Given the description of an element on the screen output the (x, y) to click on. 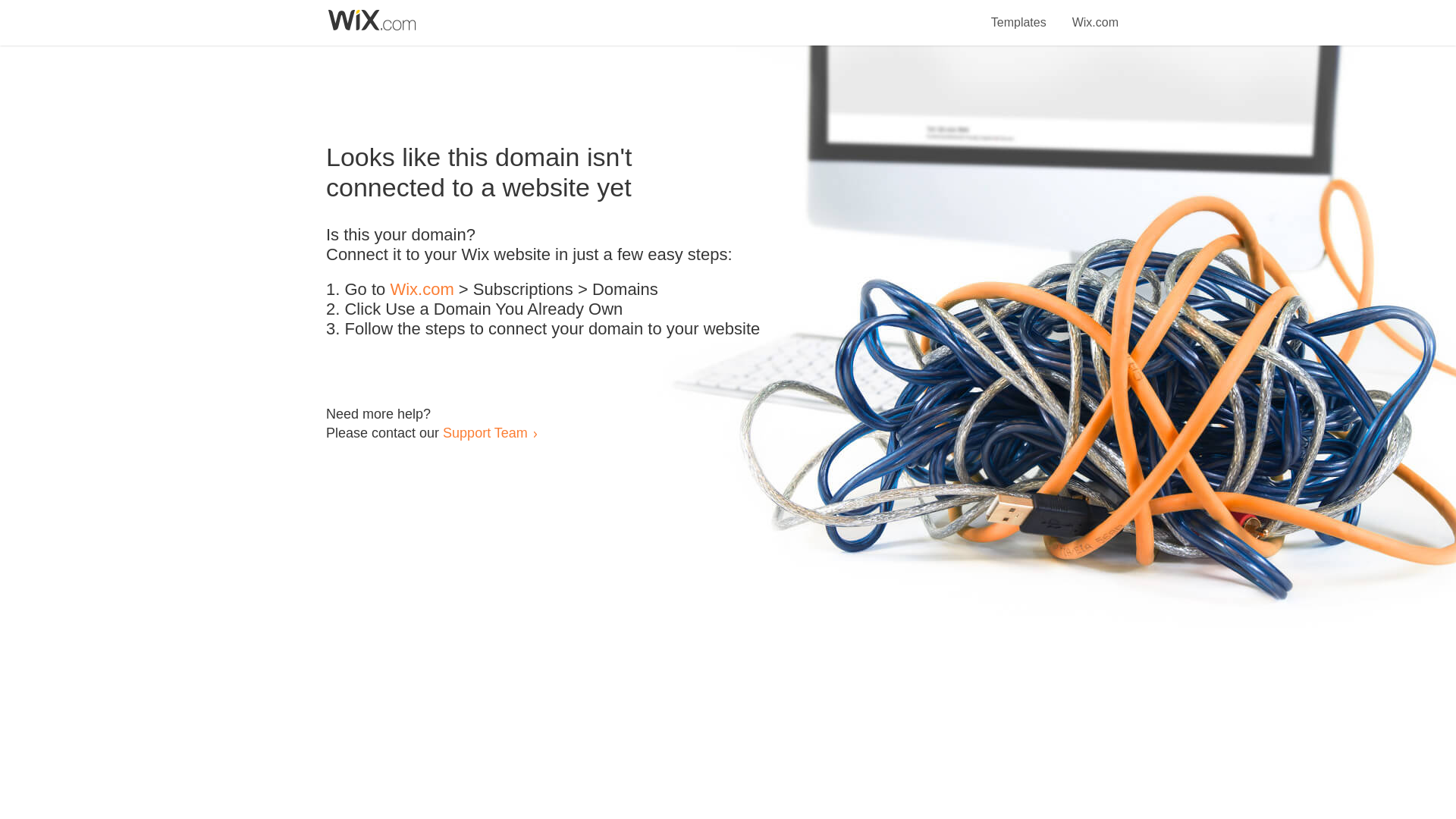
Wix.com (421, 289)
Templates (1018, 14)
Support Team (484, 432)
Wix.com (1095, 14)
